Given the description of an element on the screen output the (x, y) to click on. 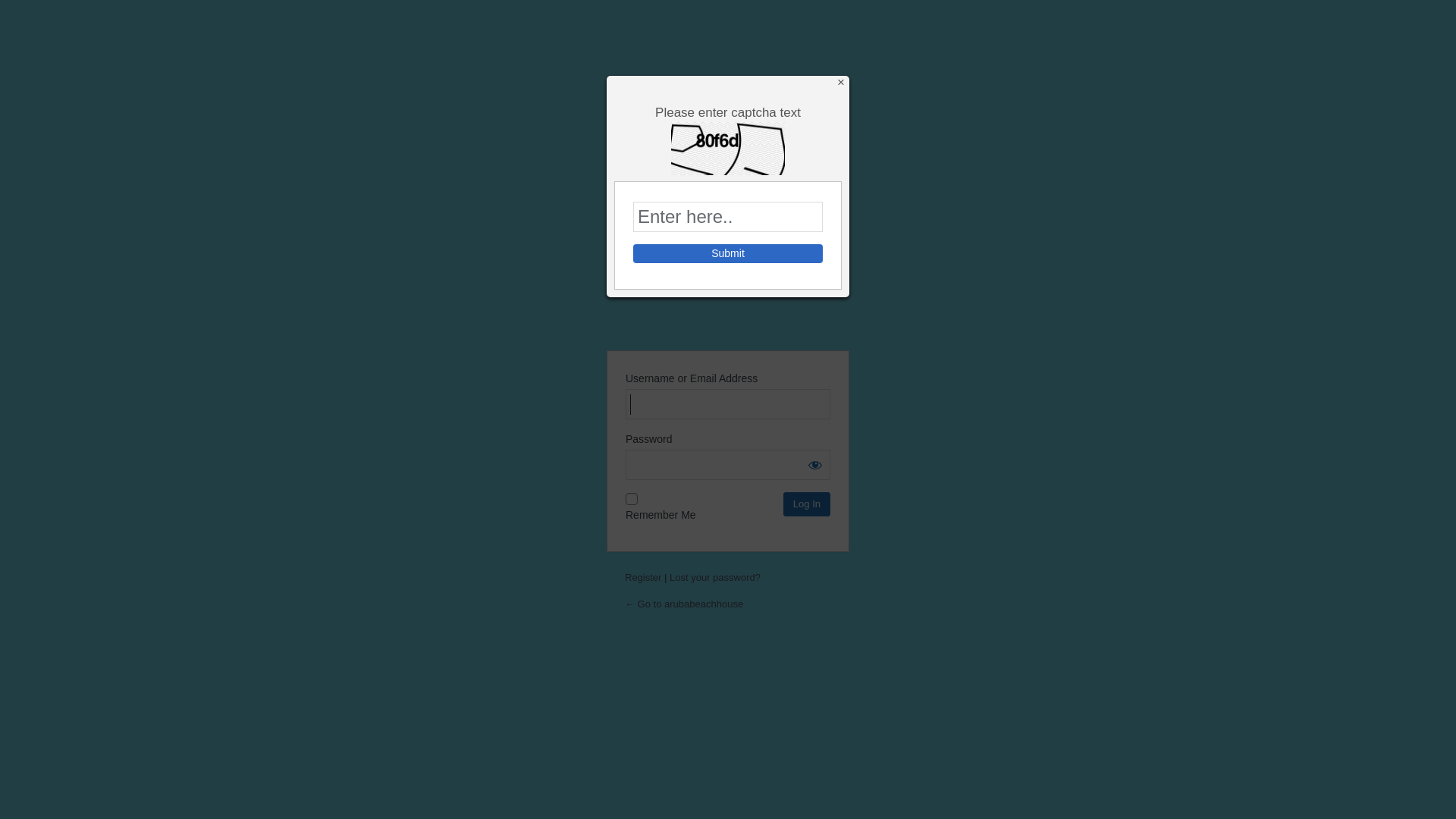
Register Element type: text (642, 577)
Submit Element type: text (727, 253)
Lost your password? Element type: text (714, 577)
Log In Element type: text (806, 504)
